Given the description of an element on the screen output the (x, y) to click on. 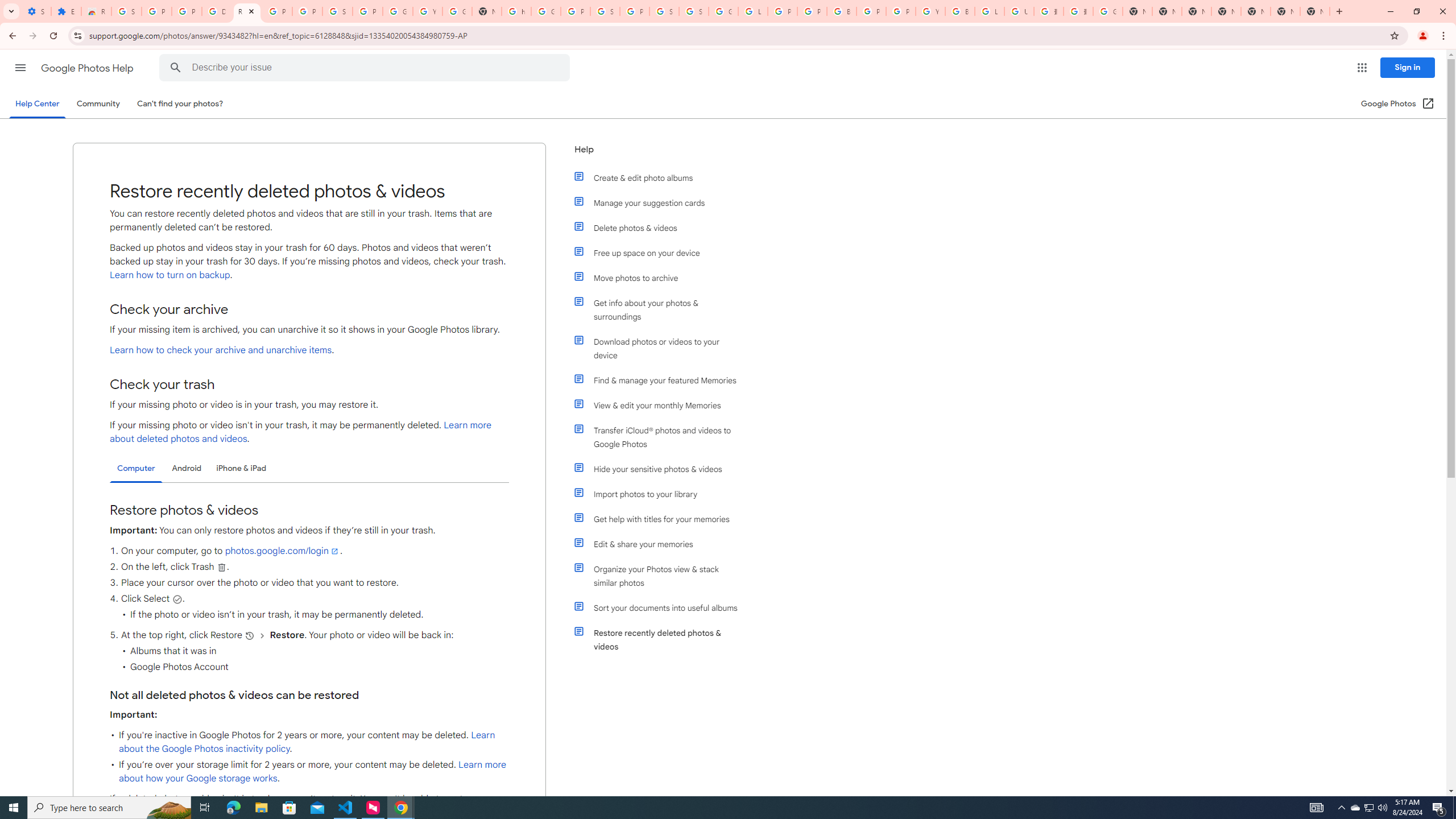
New Tab (1226, 11)
Google Images (1107, 11)
Sort your documents into useful albums (661, 607)
Find & manage your featured Memories (661, 380)
Google Photos Help (87, 68)
Learn more about how your Google storage works (312, 771)
Get help with titles for your memories (661, 518)
Free up space on your device (661, 252)
